Given the description of an element on the screen output the (x, y) to click on. 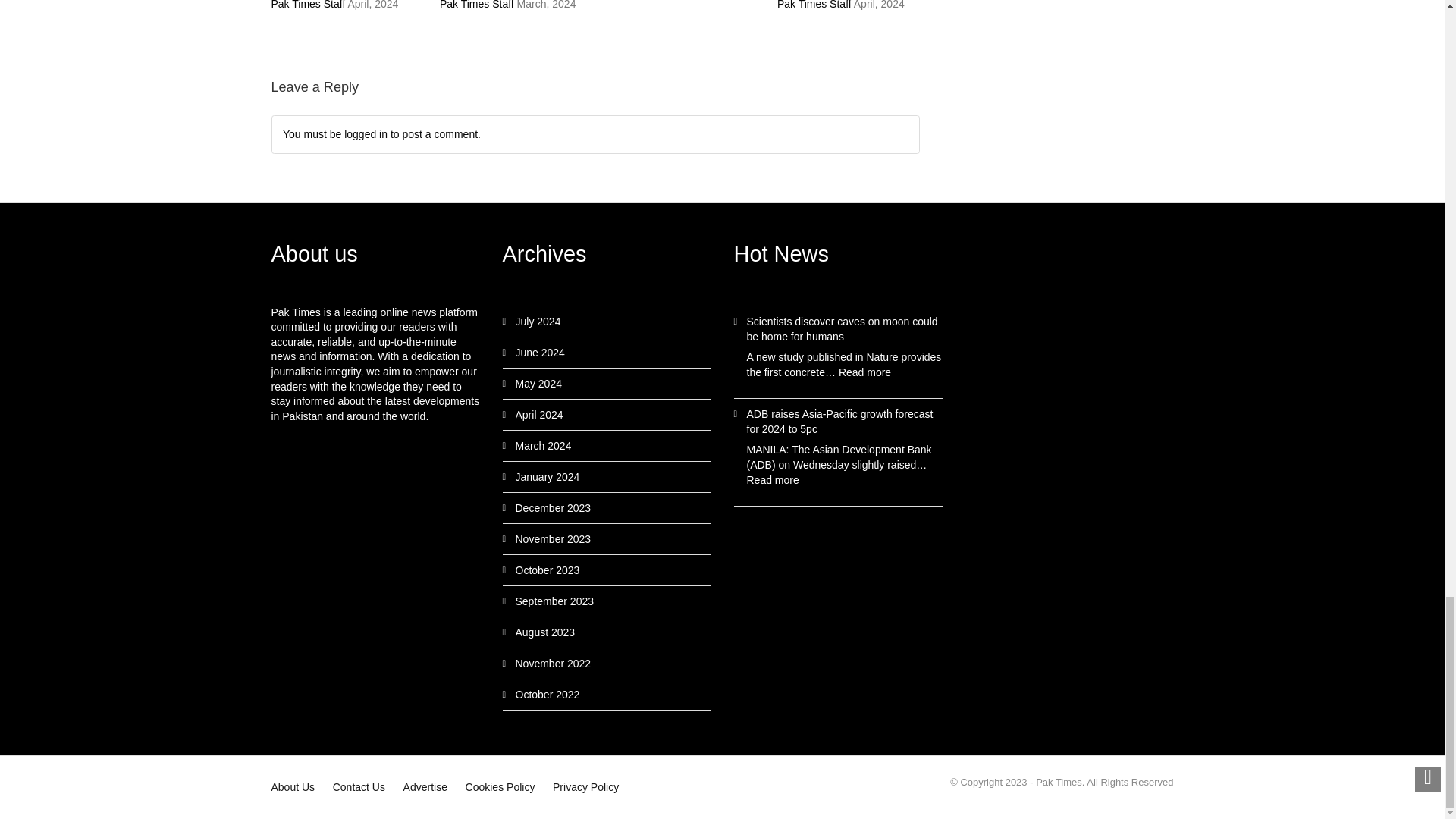
Pak Times Staff (308, 4)
Pak Times Staff (476, 4)
